Given the description of an element on the screen output the (x, y) to click on. 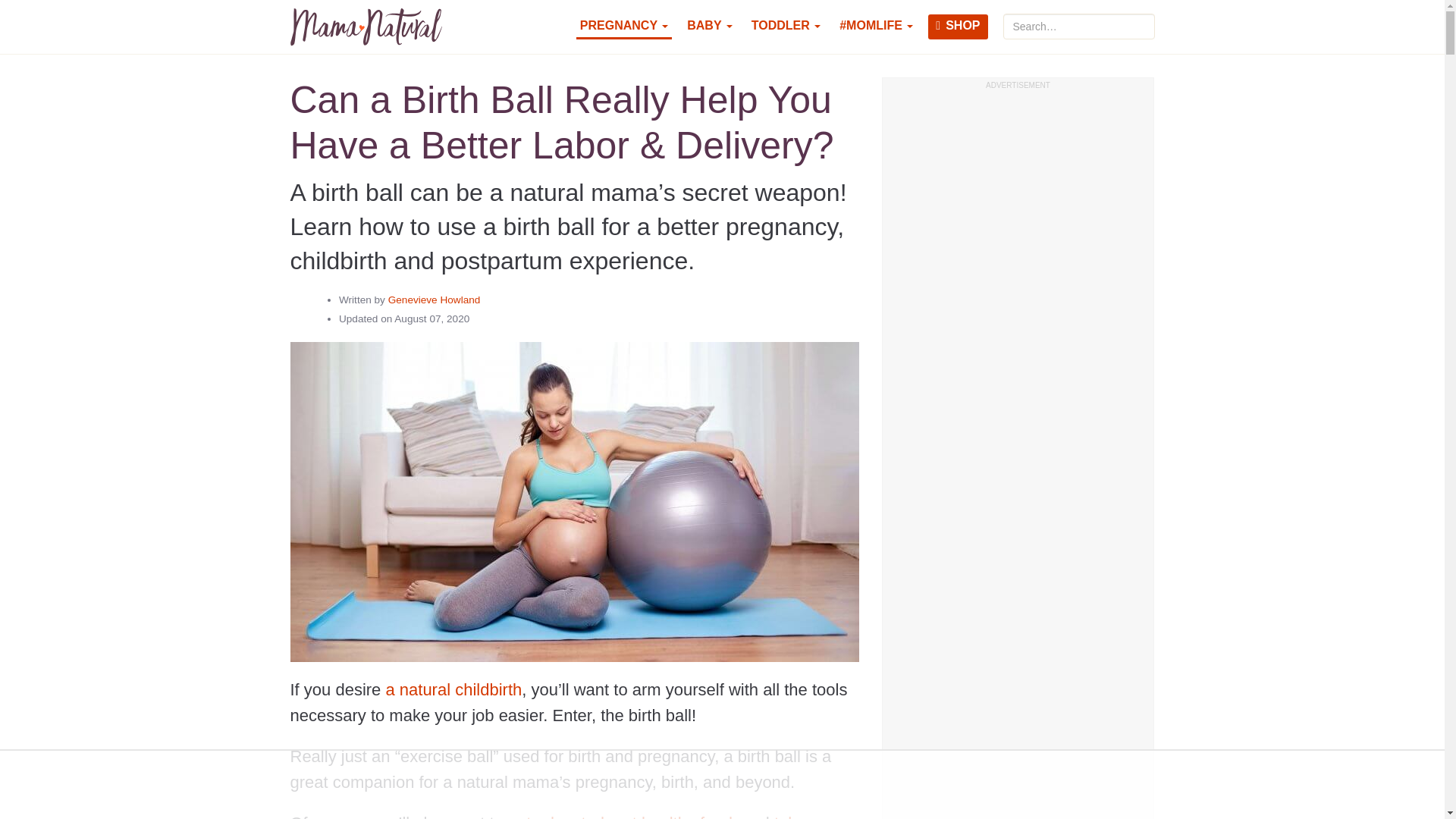
PREGNANCY (623, 26)
BABY (709, 26)
GO (1146, 19)
TODDLER (786, 26)
